Given the description of an element on the screen output the (x, y) to click on. 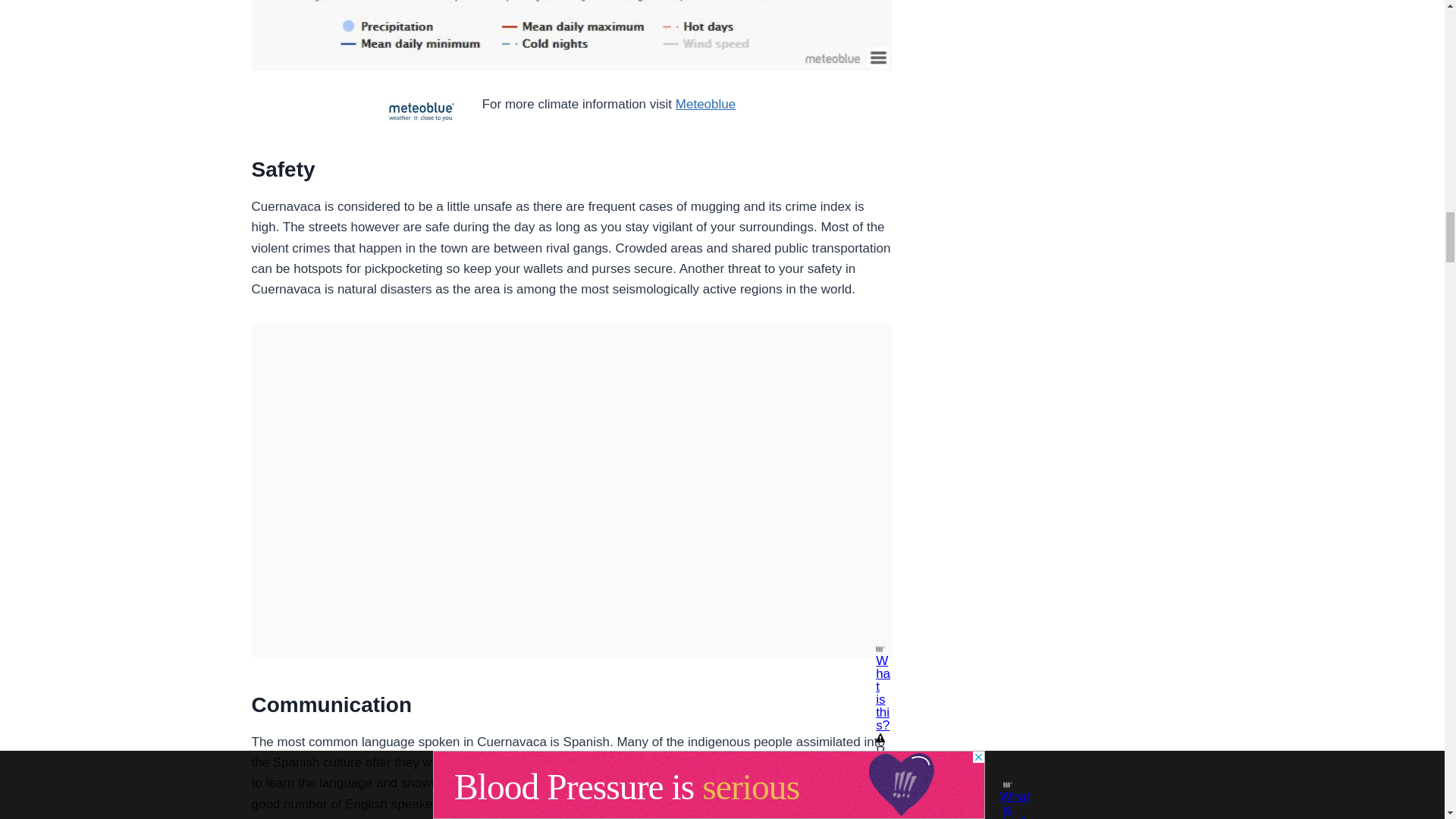
Meteoblue (705, 104)
3rd party ad content (571, 342)
